Given the description of an element on the screen output the (x, y) to click on. 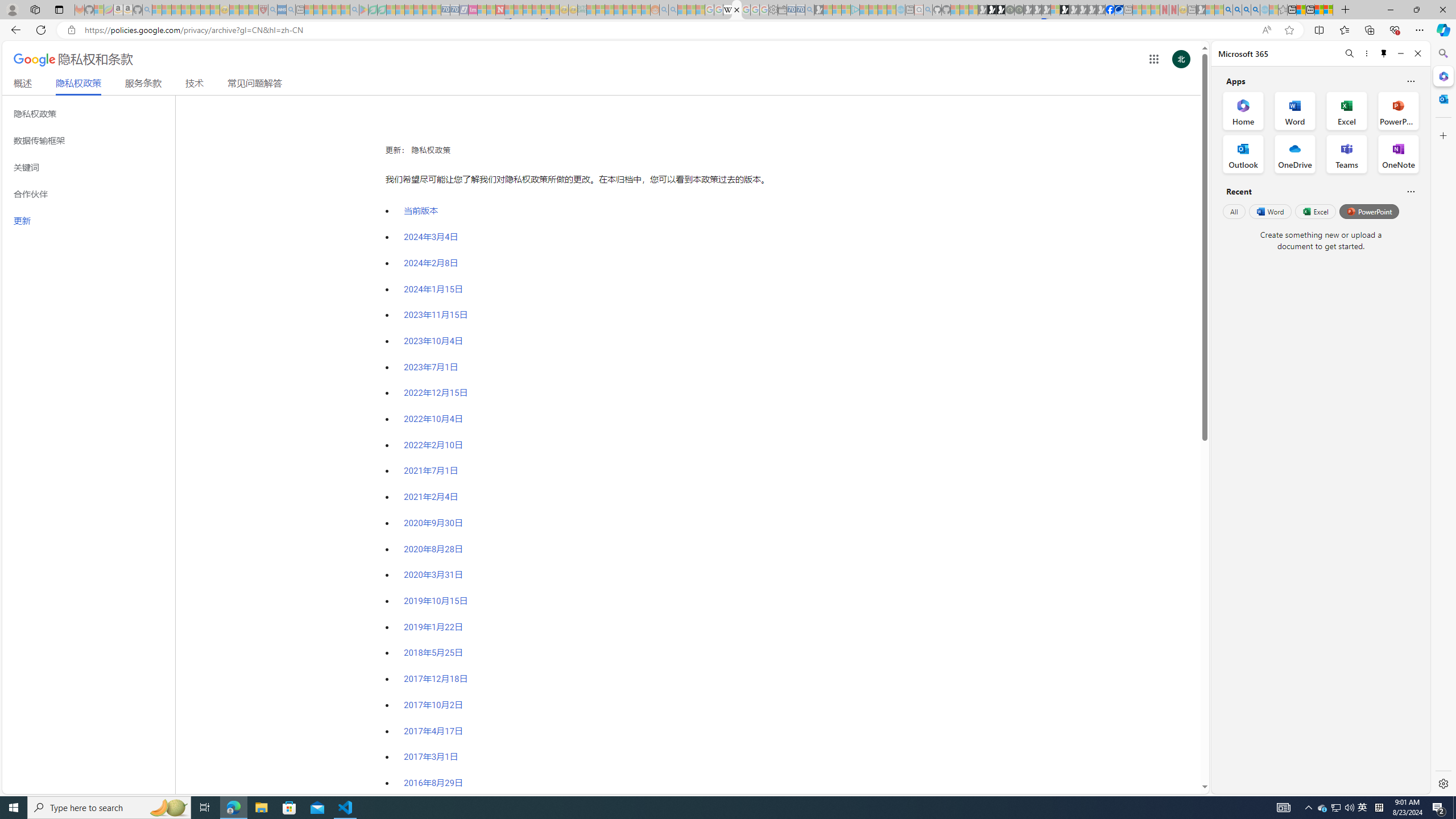
Nordace | Facebook (1109, 9)
Is this helpful? (1410, 191)
Trusted Community Engagement and Contributions | Guidelines (508, 9)
Close Customize pane (1442, 135)
New tab - Sleeping (1191, 9)
Microsoft Start Gaming - Sleeping (818, 9)
Bing Real Estate - Home sales and rental listings - Sleeping (809, 9)
